Given the description of an element on the screen output the (x, y) to click on. 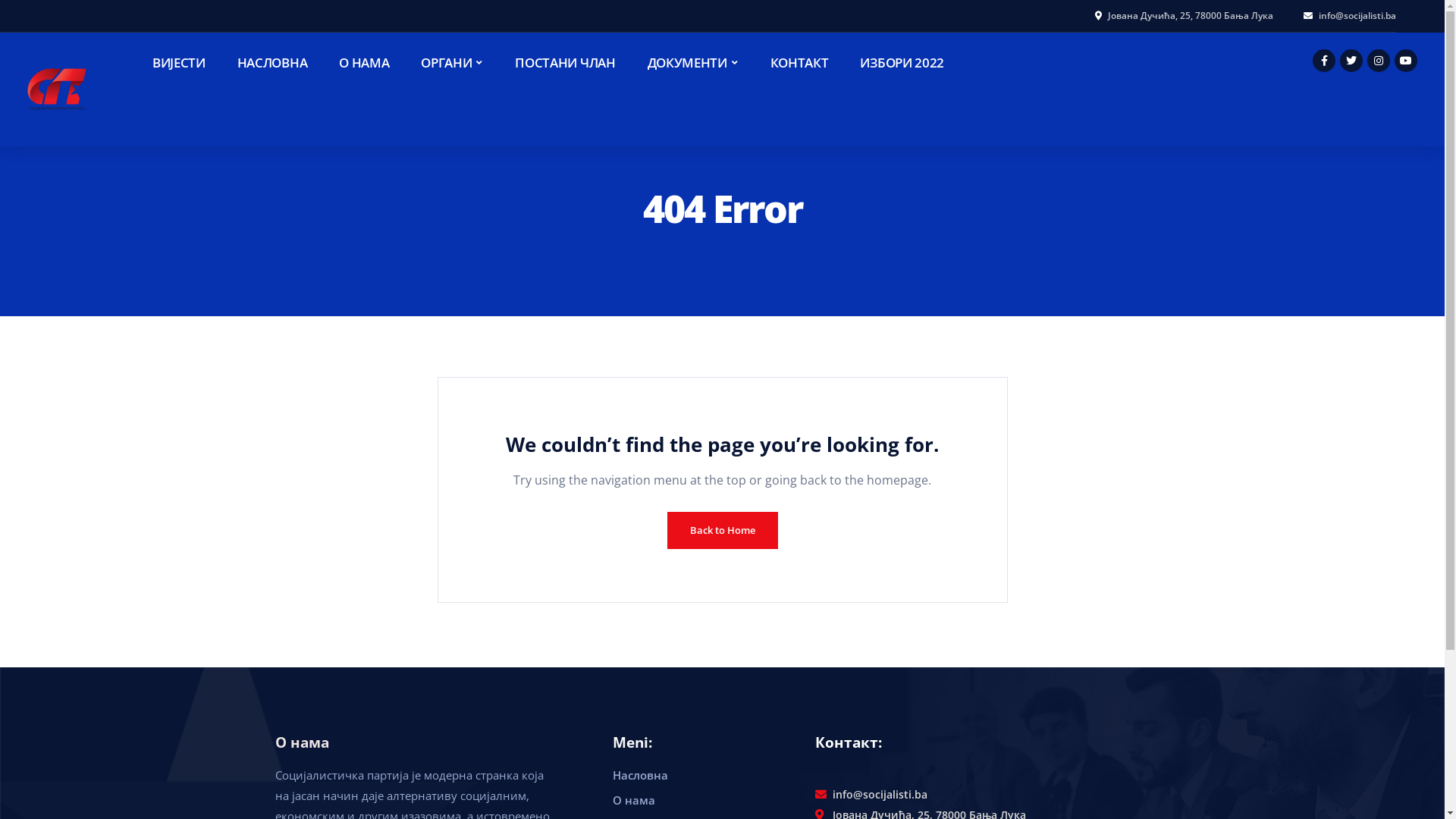
Facebook Element type: hover (1323, 60)
Socijalisti Element type: hover (56, 89)
Instagram Element type: hover (1378, 60)
Youtube Element type: hover (1405, 60)
Back to Home Element type: text (722, 530)
Twitter Element type: hover (1350, 60)
